Given the description of an element on the screen output the (x, y) to click on. 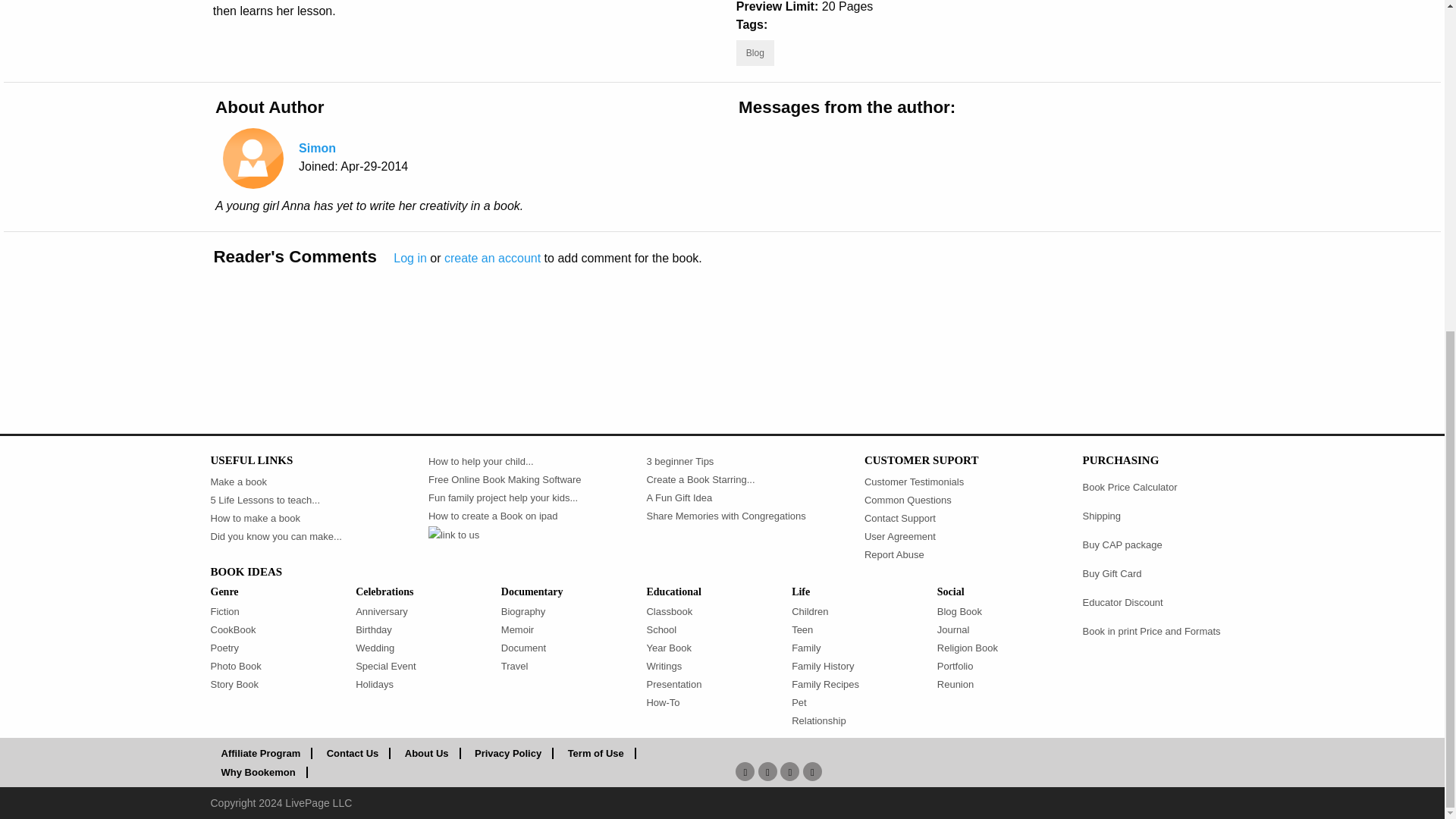
Pinterest (812, 771)
Instagram (789, 771)
Twitter (767, 771)
Facebook (744, 771)
